Given the description of an element on the screen output the (x, y) to click on. 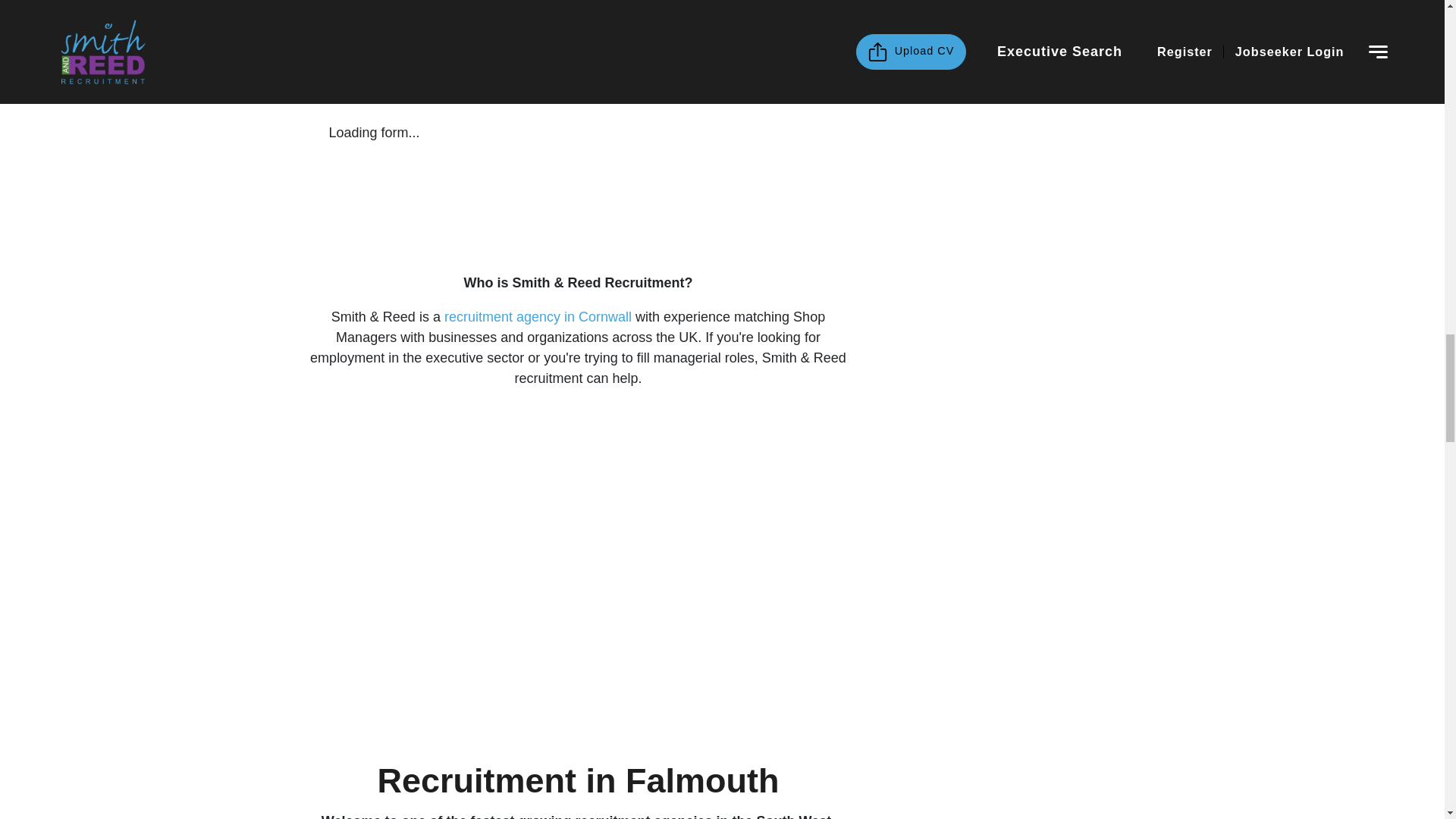
recruitment agency in Cornwall (537, 316)
